Given the description of an element on the screen output the (x, y) to click on. 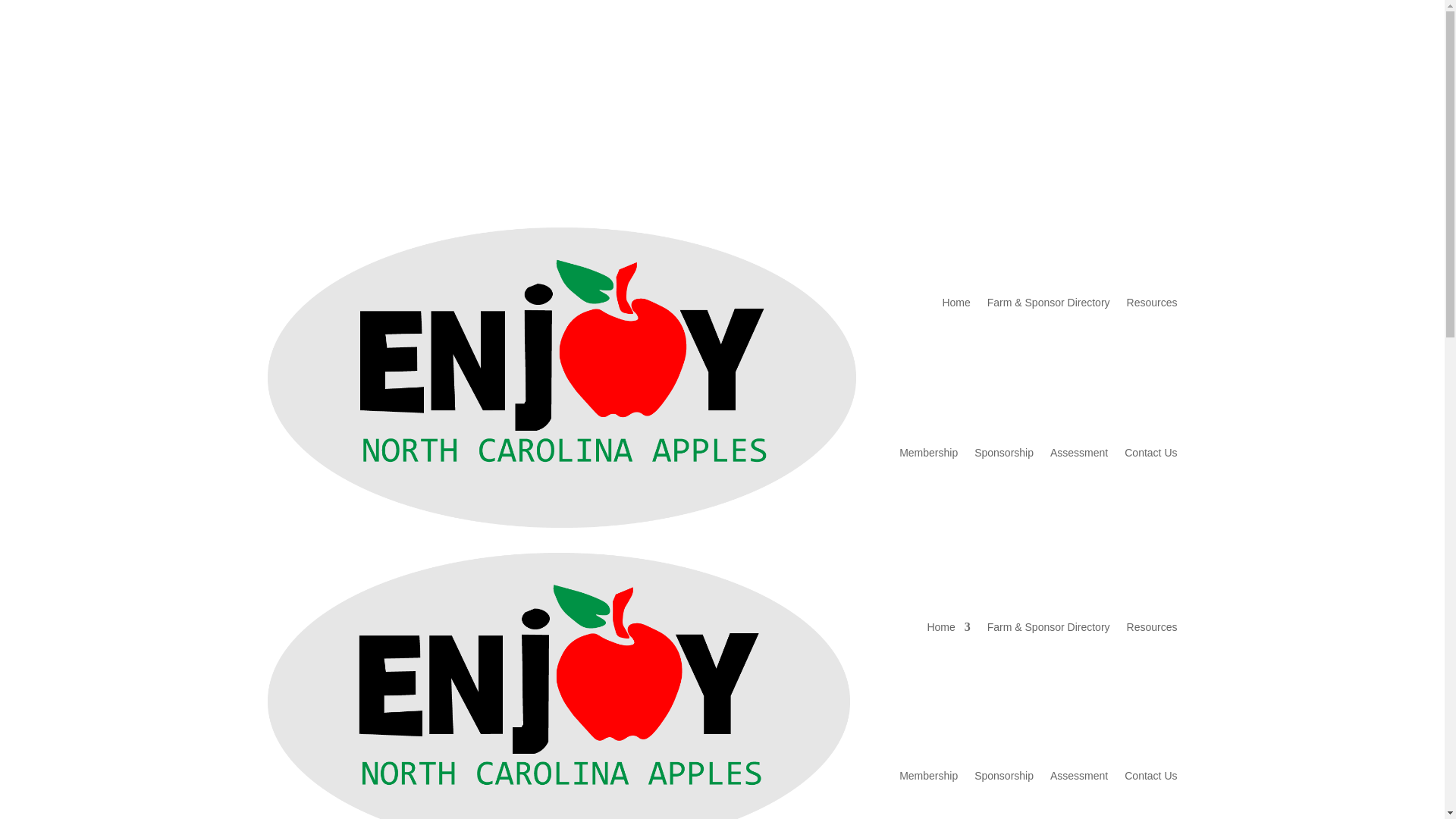
Apple Varieties (1141, 82)
Apple Recipes (1055, 82)
Apple Facts (976, 82)
